Given the description of an element on the screen output the (x, y) to click on. 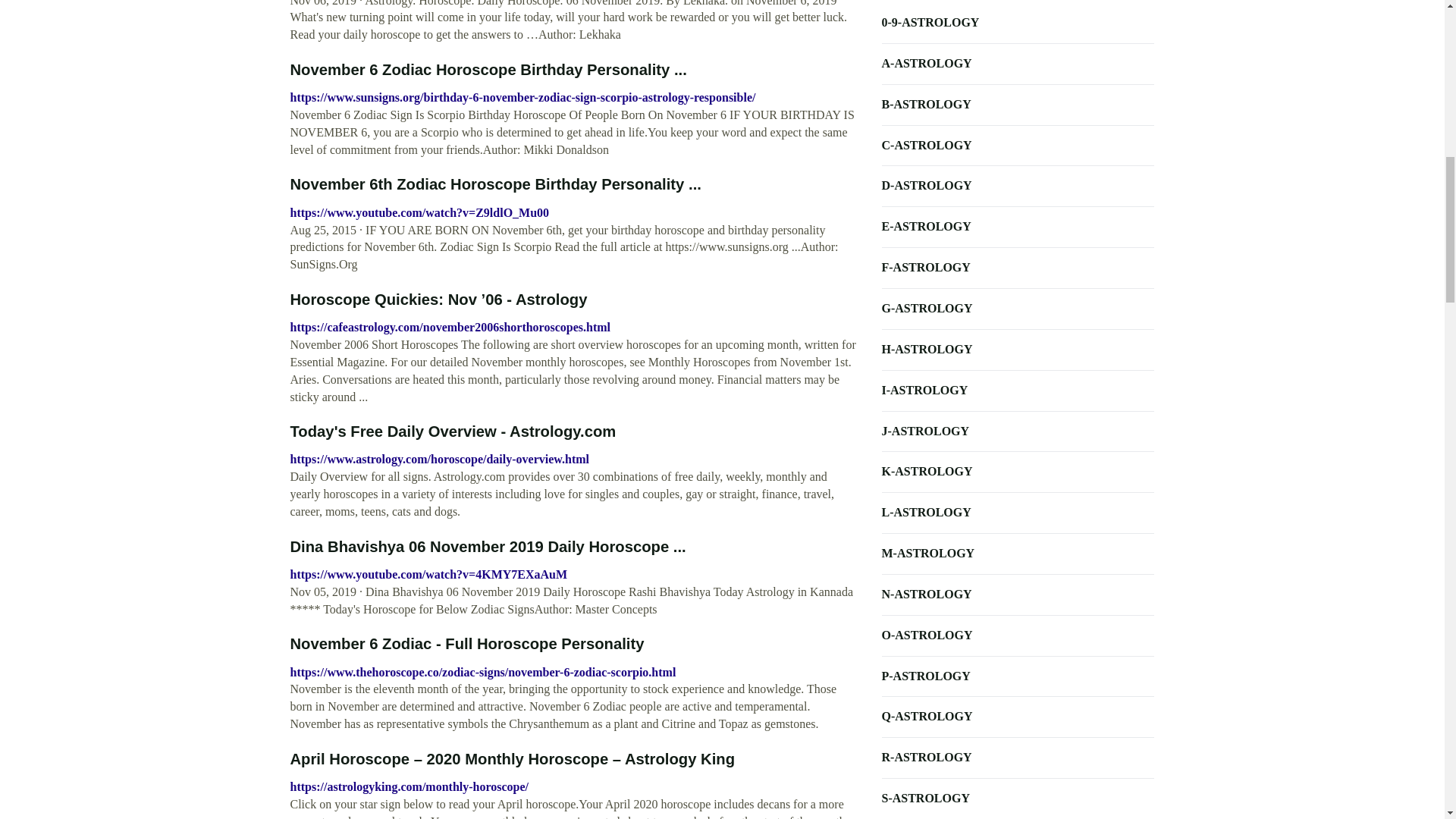
Dina Bhavishya 06 November 2019 Daily Horoscope ... (487, 546)
Today's Free Daily Overview - Astrology.com (452, 431)
November 6th Zodiac Horoscope Birthday Personality ... (494, 184)
November 6 Zodiac - Full Horoscope Personality (466, 643)
November 6 Zodiac Horoscope Birthday Personality ... (487, 69)
